Given the description of an element on the screen output the (x, y) to click on. 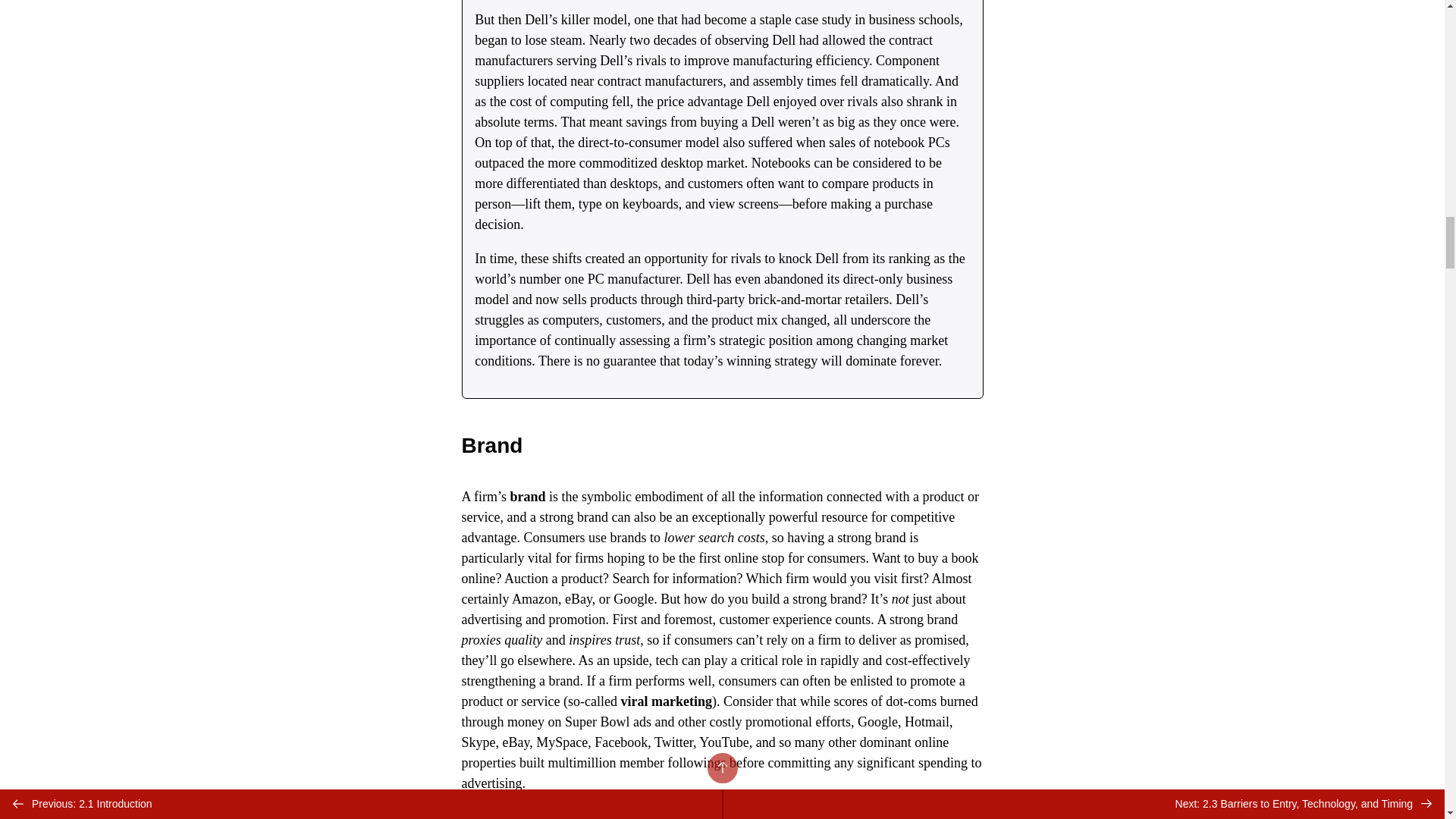
brand (528, 496)
viral marketing (665, 701)
